Given the description of an element on the screen output the (x, y) to click on. 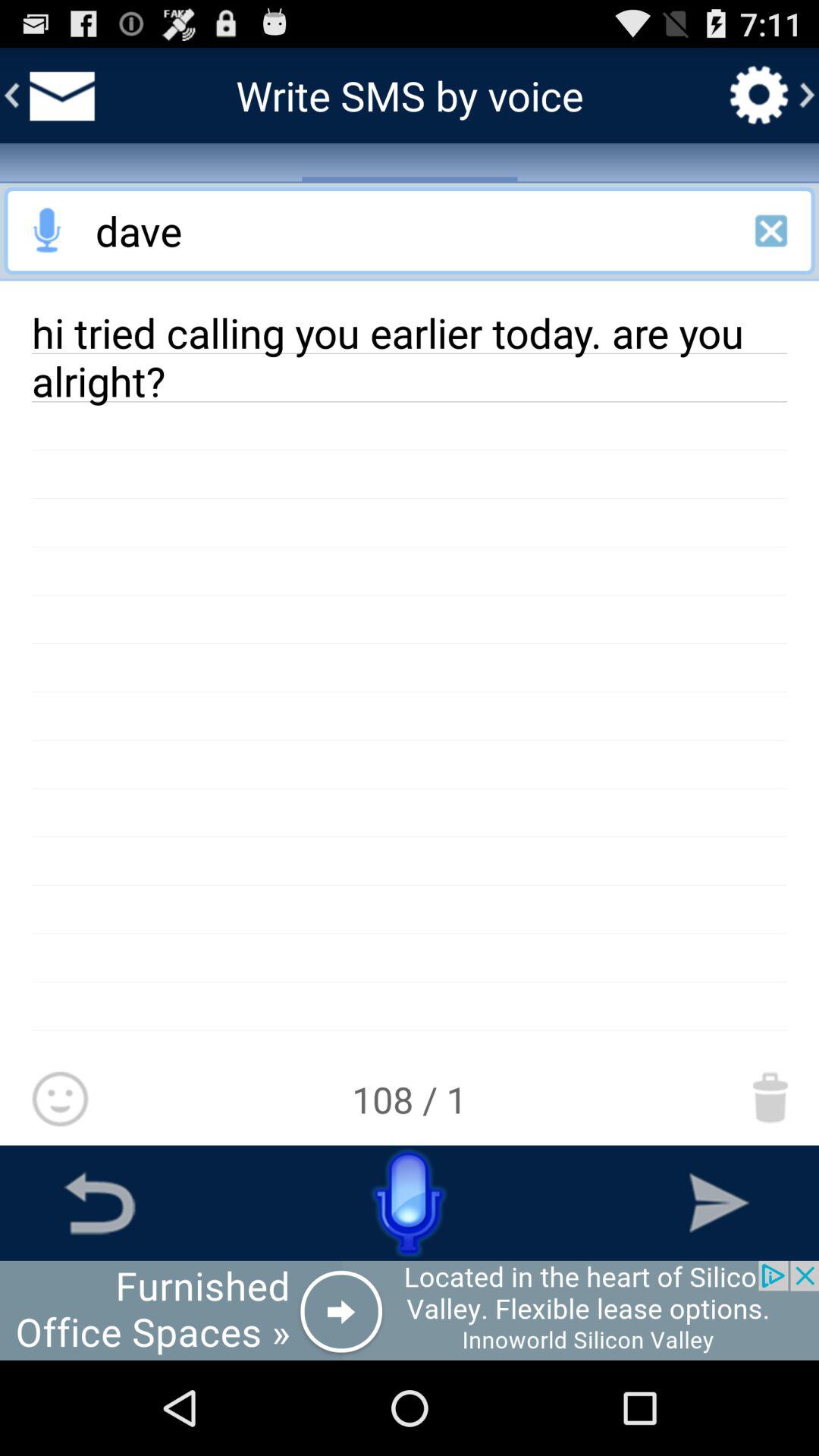
emotes (59, 1099)
